Given the description of an element on the screen output the (x, y) to click on. 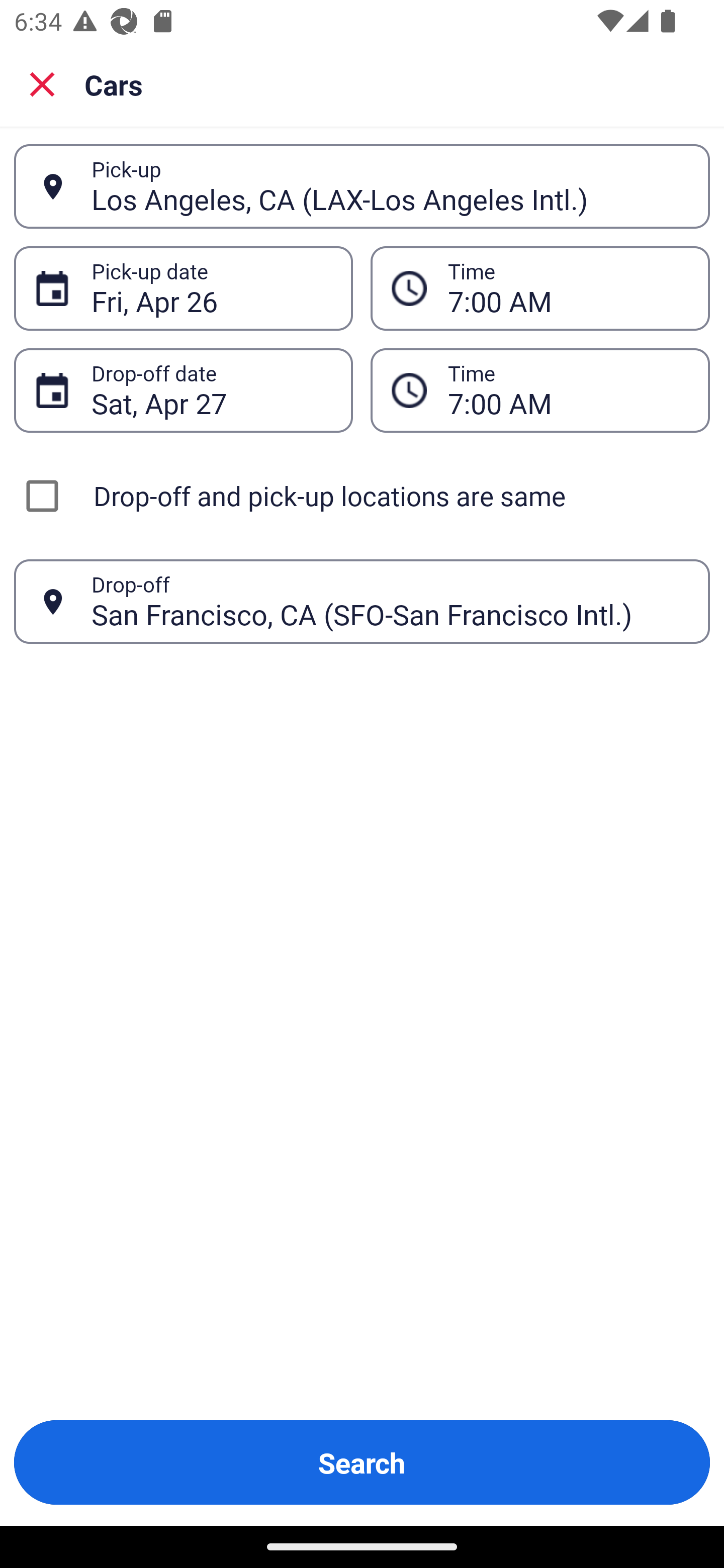
Close search screen (41, 83)
Los Angeles, CA (LAX-Los Angeles Intl.) Pick-up (361, 186)
Los Angeles, CA (LAX-Los Angeles Intl.) (389, 186)
Fri, Apr 26 Pick-up date (183, 288)
7:00 AM (540, 288)
Fri, Apr 26 (211, 288)
7:00 AM (568, 288)
Sat, Apr 27 Drop-off date (183, 390)
7:00 AM (540, 390)
Sat, Apr 27 (211, 390)
7:00 AM (568, 390)
Drop-off and pick-up locations are same (361, 495)
San Francisco, CA (SFO-San Francisco Intl.) (389, 601)
Search Button Search (361, 1462)
